Given the description of an element on the screen output the (x, y) to click on. 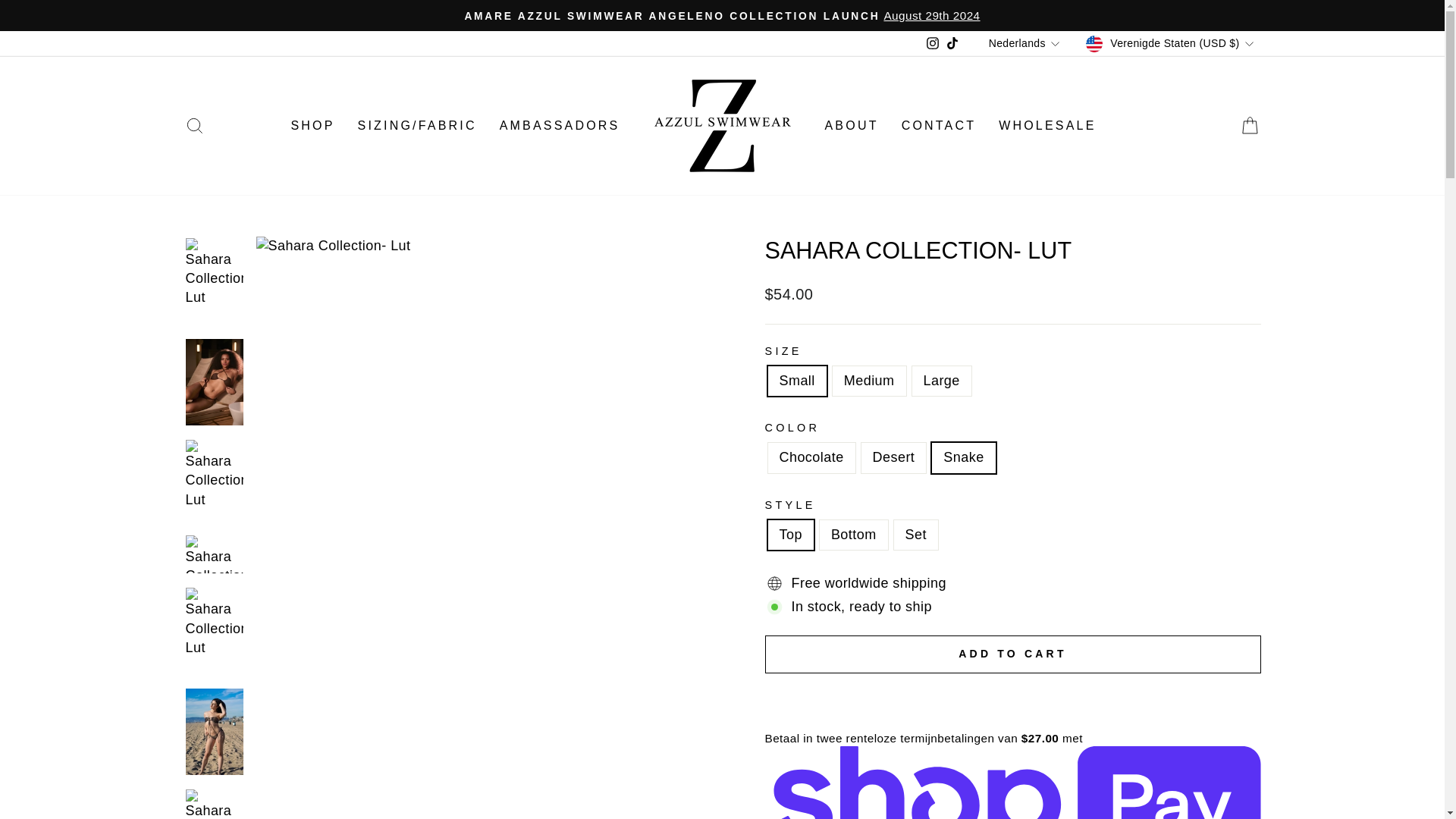
instagram (932, 42)
ICON-SEARCH (194, 125)
Nederlands (1026, 43)
